Given the description of an element on the screen output the (x, y) to click on. 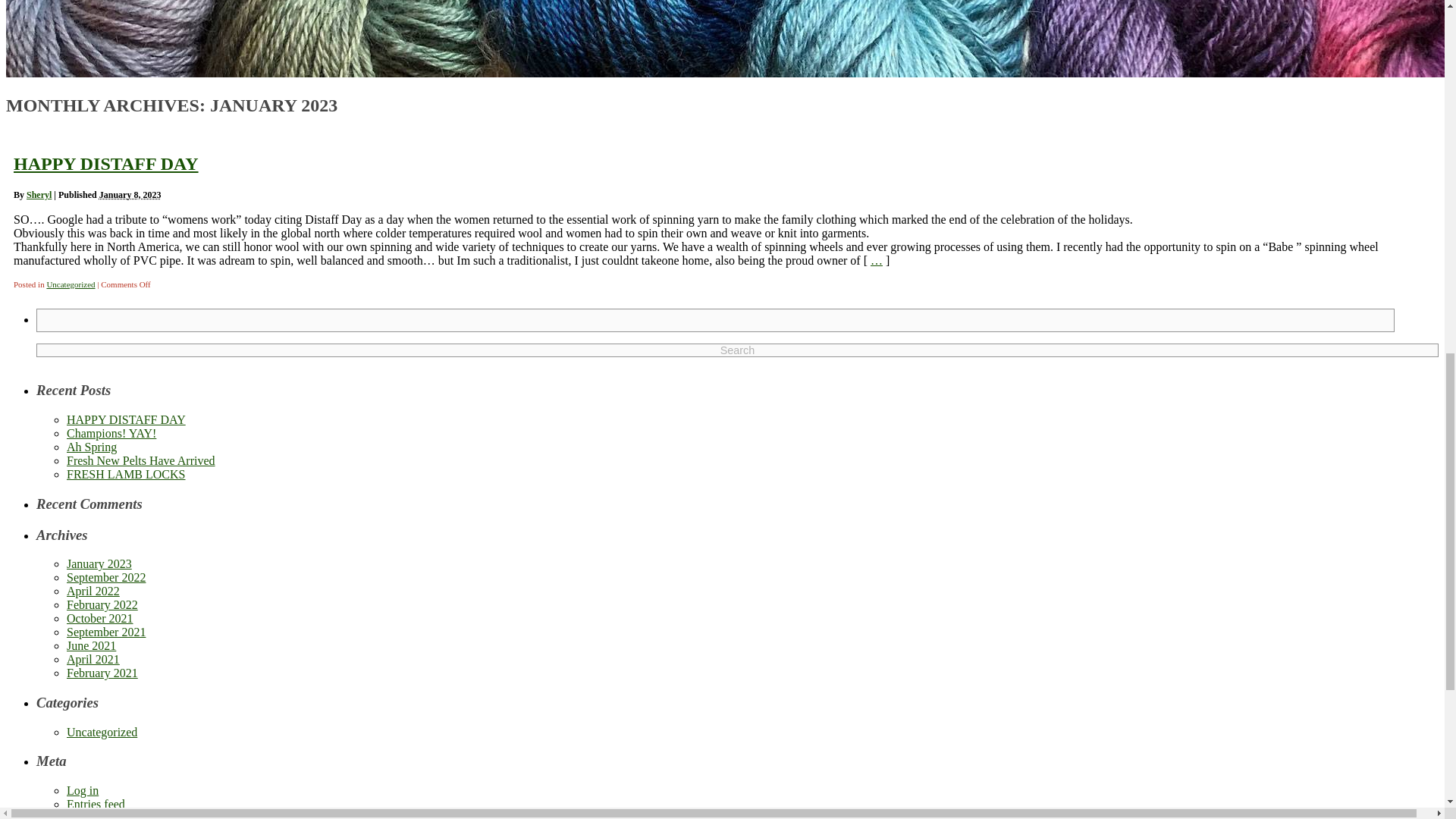
September 2022 (105, 576)
April 2022 (92, 590)
Ah Spring (91, 446)
View all posts by Sheryl (38, 194)
FRESH LAMB LOCKS (125, 473)
January 2023 (99, 563)
June 2021 (91, 645)
October 2021 (99, 617)
HAPPY DISTAFF DAY (105, 163)
September 2021 (105, 631)
Uncategorized (101, 731)
Champions! YAY! (110, 432)
Fresh New Pelts Have Arrived (140, 460)
April 2021 (92, 658)
